Given the description of an element on the screen output the (x, y) to click on. 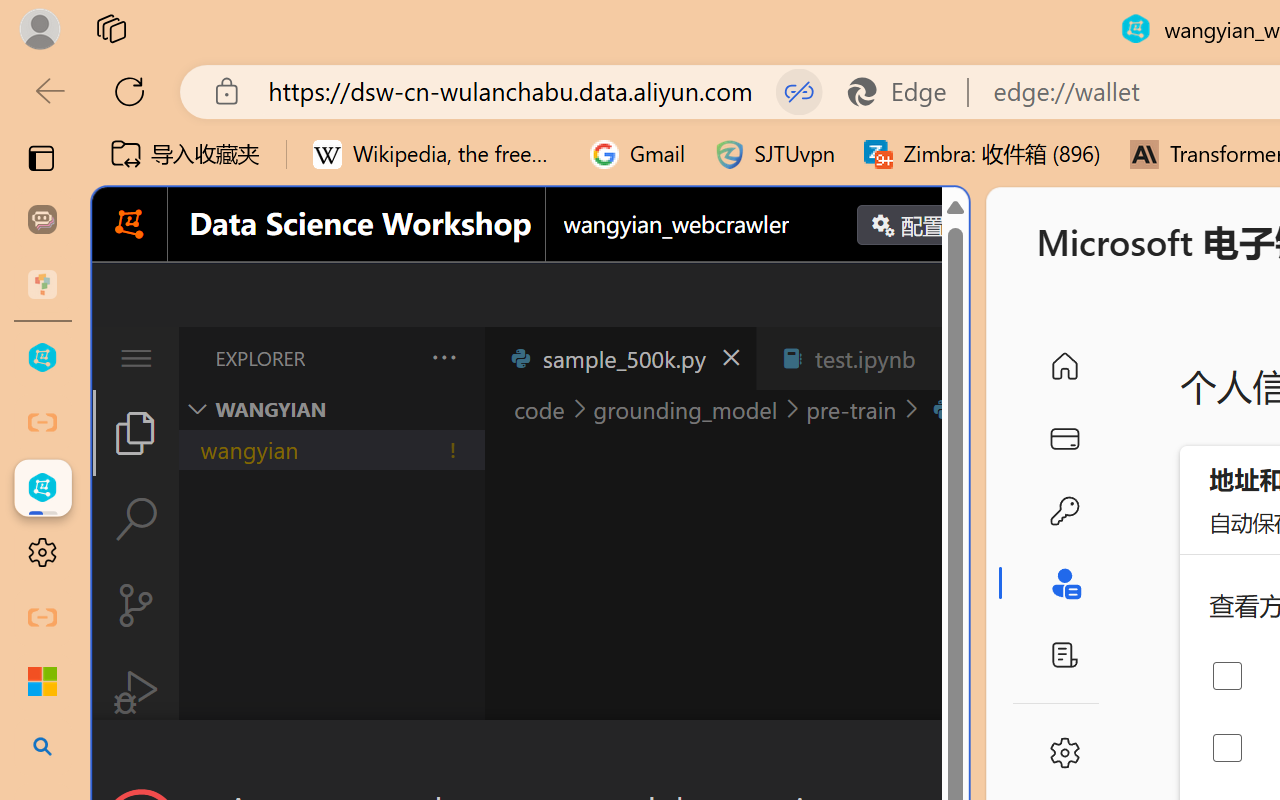
Class: actions-container (529, 756)
Edge (905, 91)
Search (Ctrl+Shift+F) (135, 519)
